Given the description of an element on the screen output the (x, y) to click on. 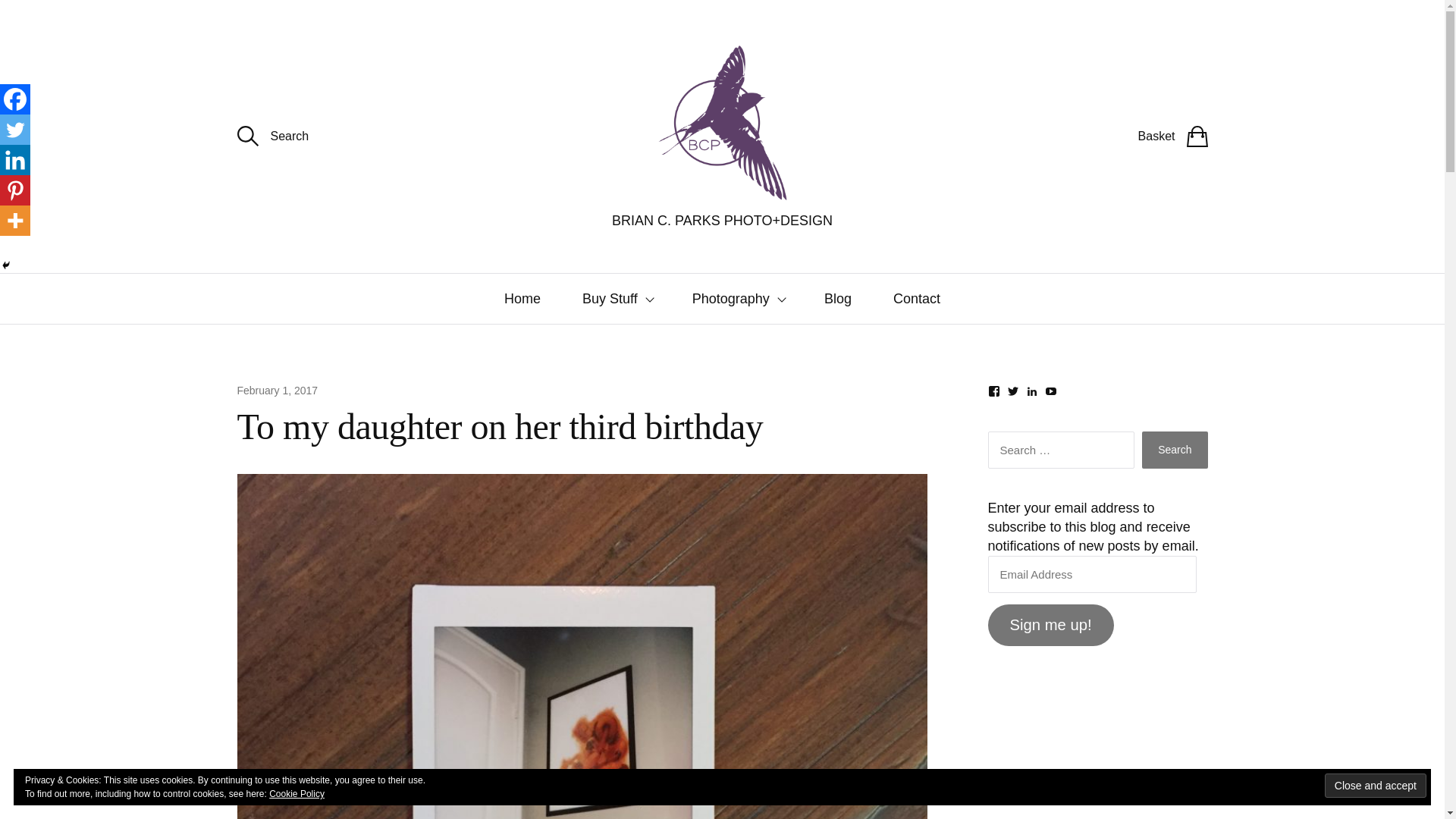
Contact (917, 298)
Buy Stuff (616, 298)
Search (1174, 449)
Close and accept (1375, 785)
Photography (737, 298)
Home (521, 298)
Blog (837, 298)
To my daughter on her third birthday (276, 389)
Search (1174, 449)
